Given the description of an element on the screen output the (x, y) to click on. 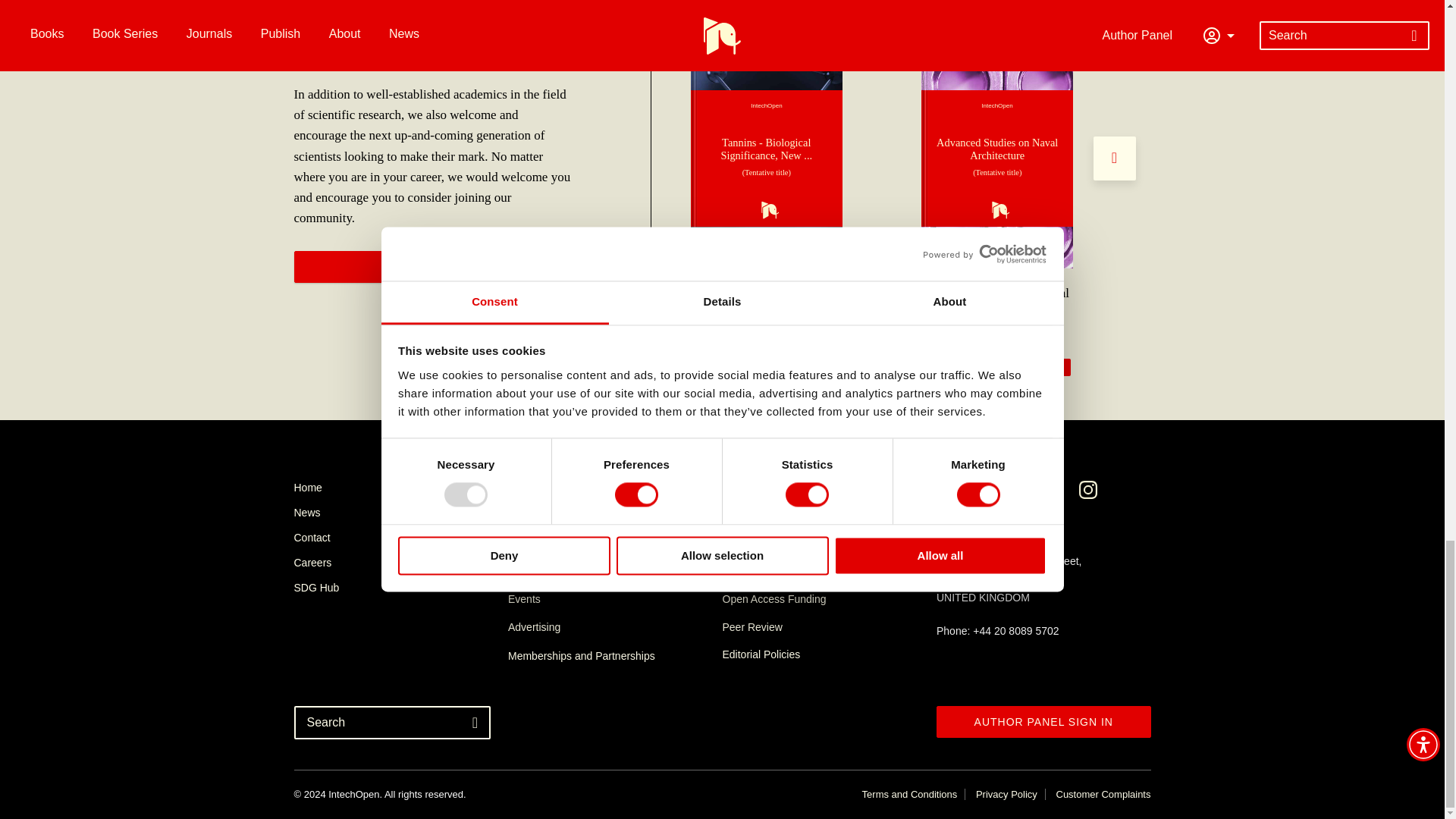
IntechOpen (766, 158)
IntechOpen (997, 158)
